Given the description of an element on the screen output the (x, y) to click on. 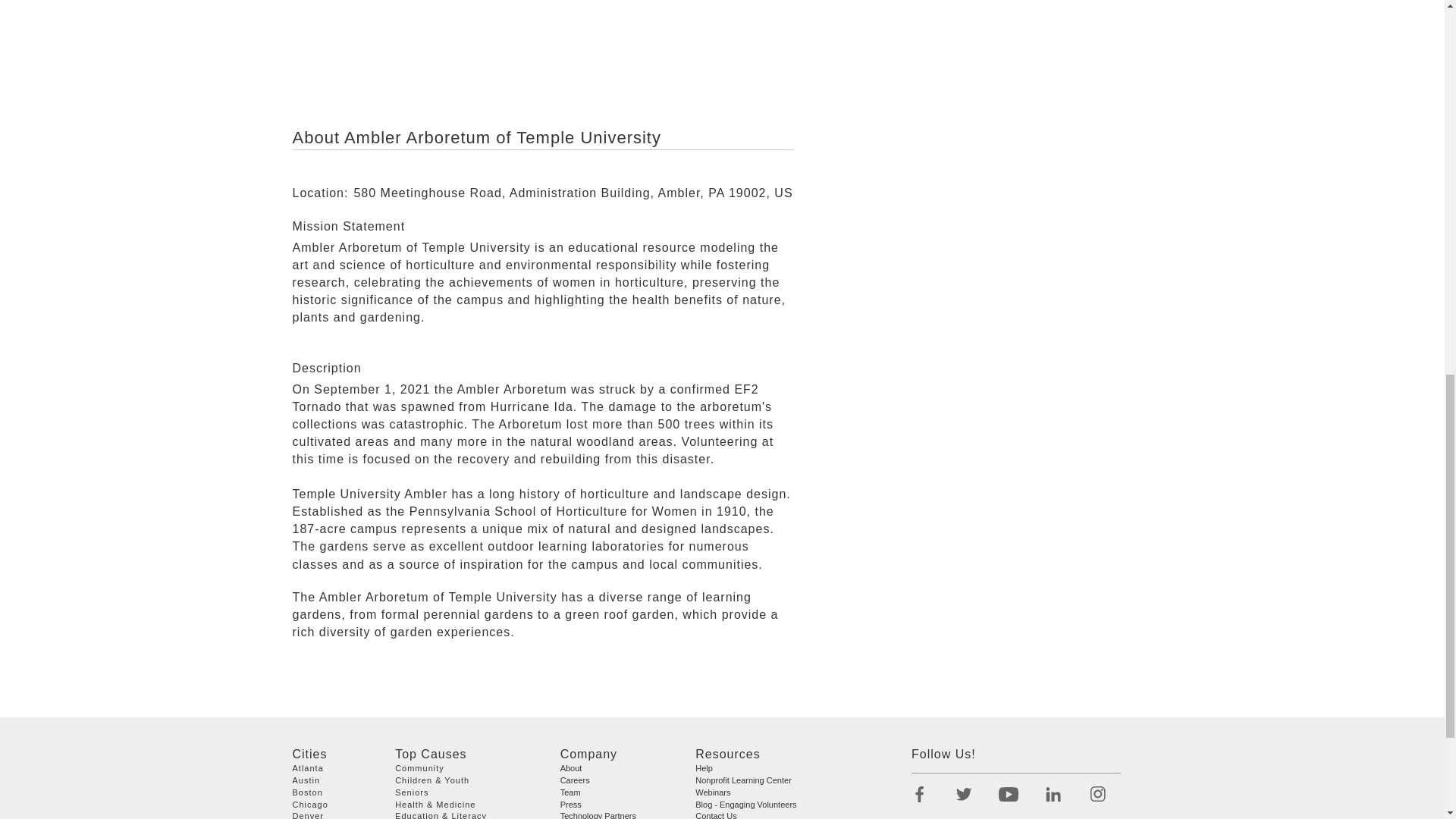
Austin (306, 779)
Denver (307, 815)
Boston (307, 791)
Atlanta (307, 768)
Chicago (310, 804)
